Given the description of an element on the screen output the (x, y) to click on. 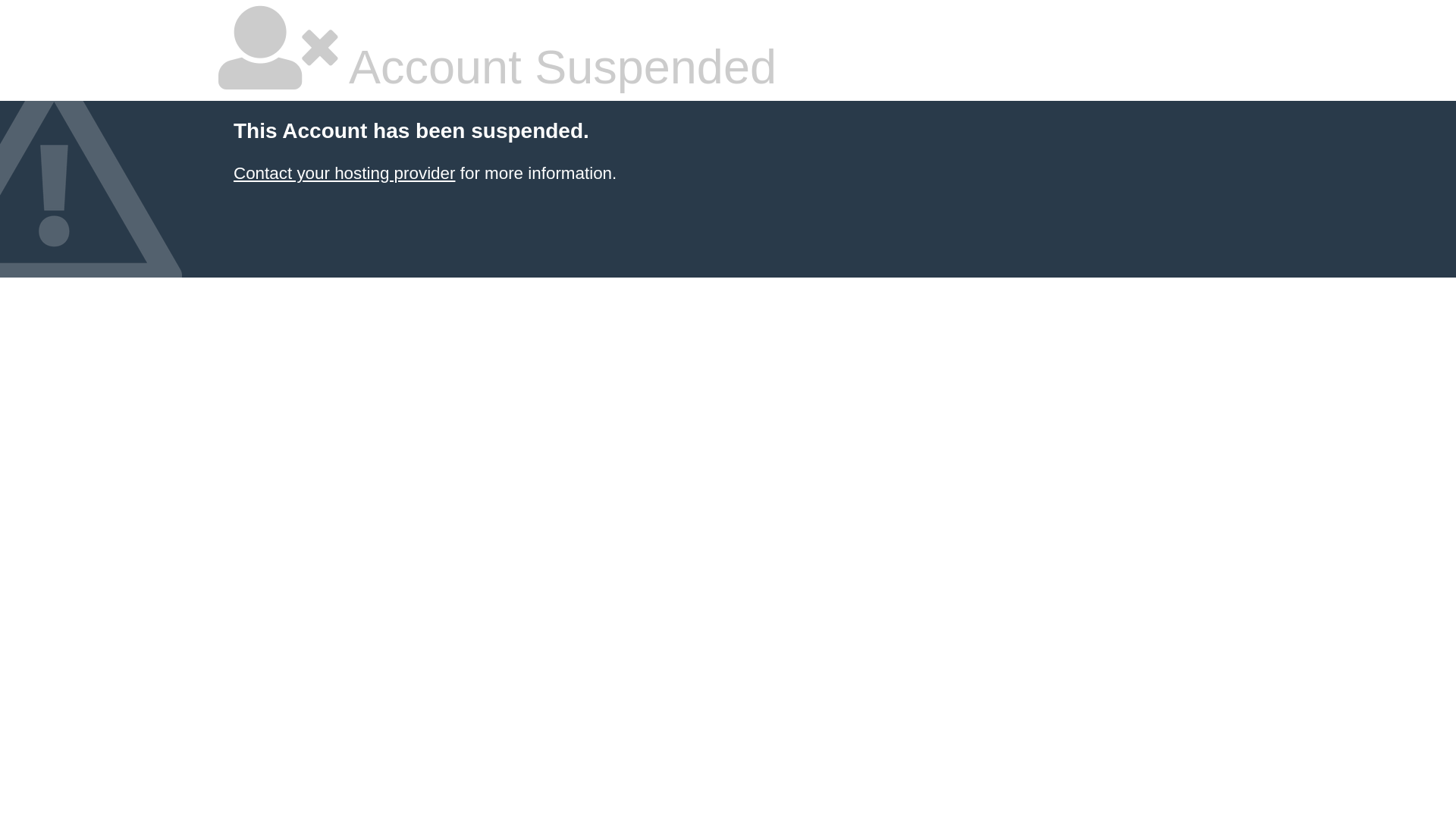
Contact your hosting provider Element type: text (344, 172)
